Given the description of an element on the screen output the (x, y) to click on. 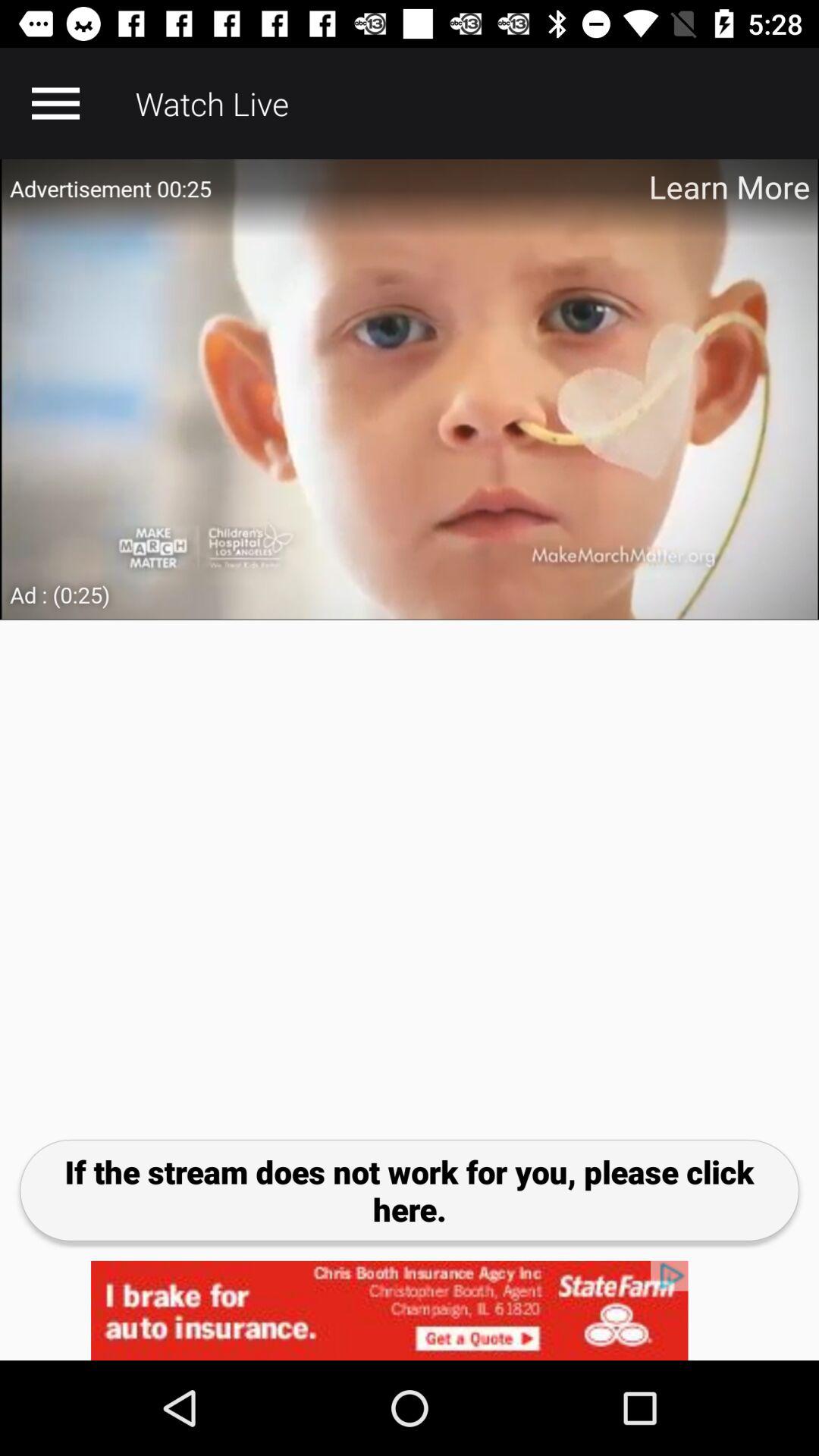
adverstisment (409, 389)
